Given the description of an element on the screen output the (x, y) to click on. 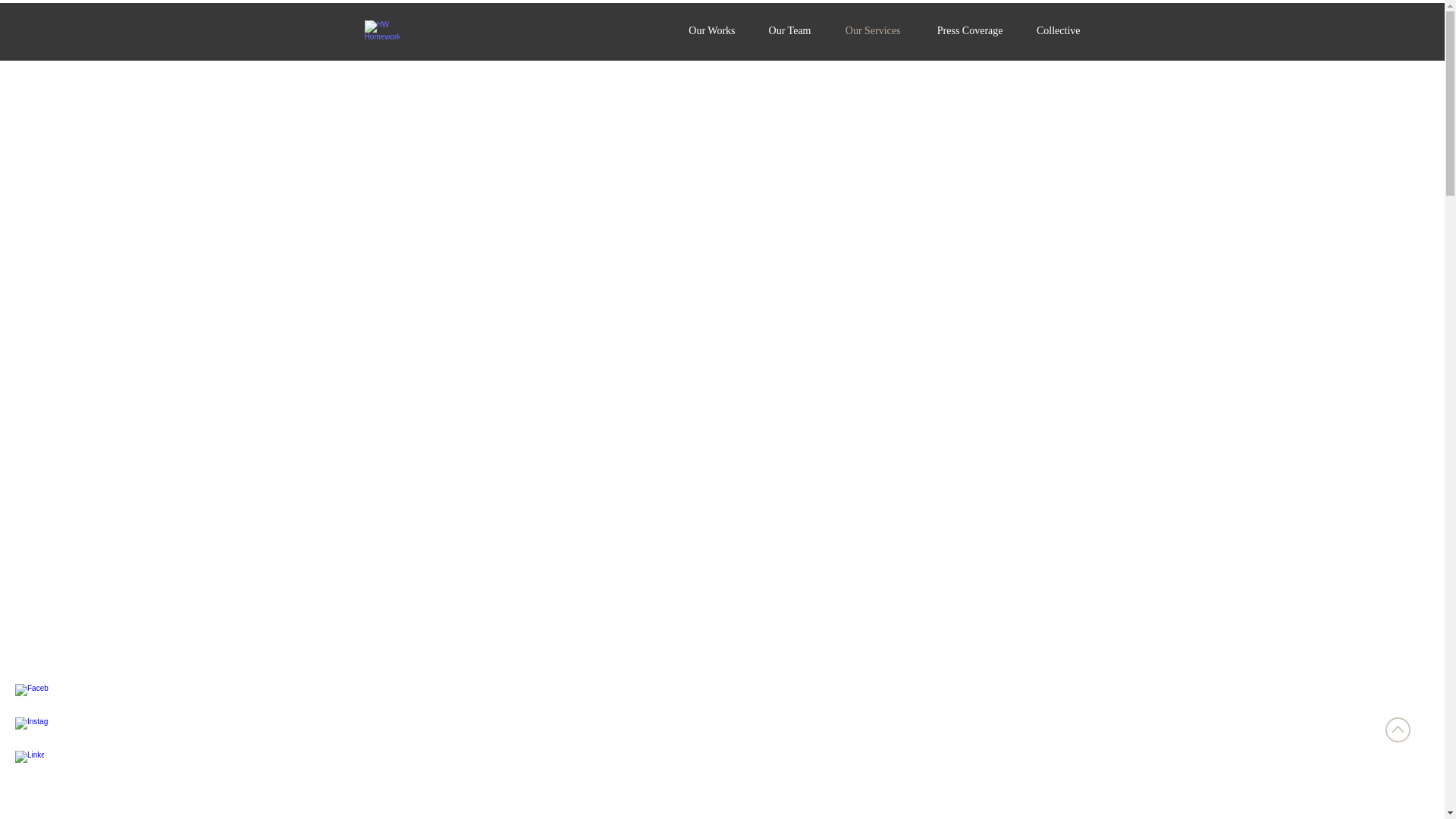
Our Team (783, 30)
Collective (1053, 30)
Our Works (704, 30)
Press Coverage (962, 30)
Our Services (866, 30)
